Given the description of an element on the screen output the (x, y) to click on. 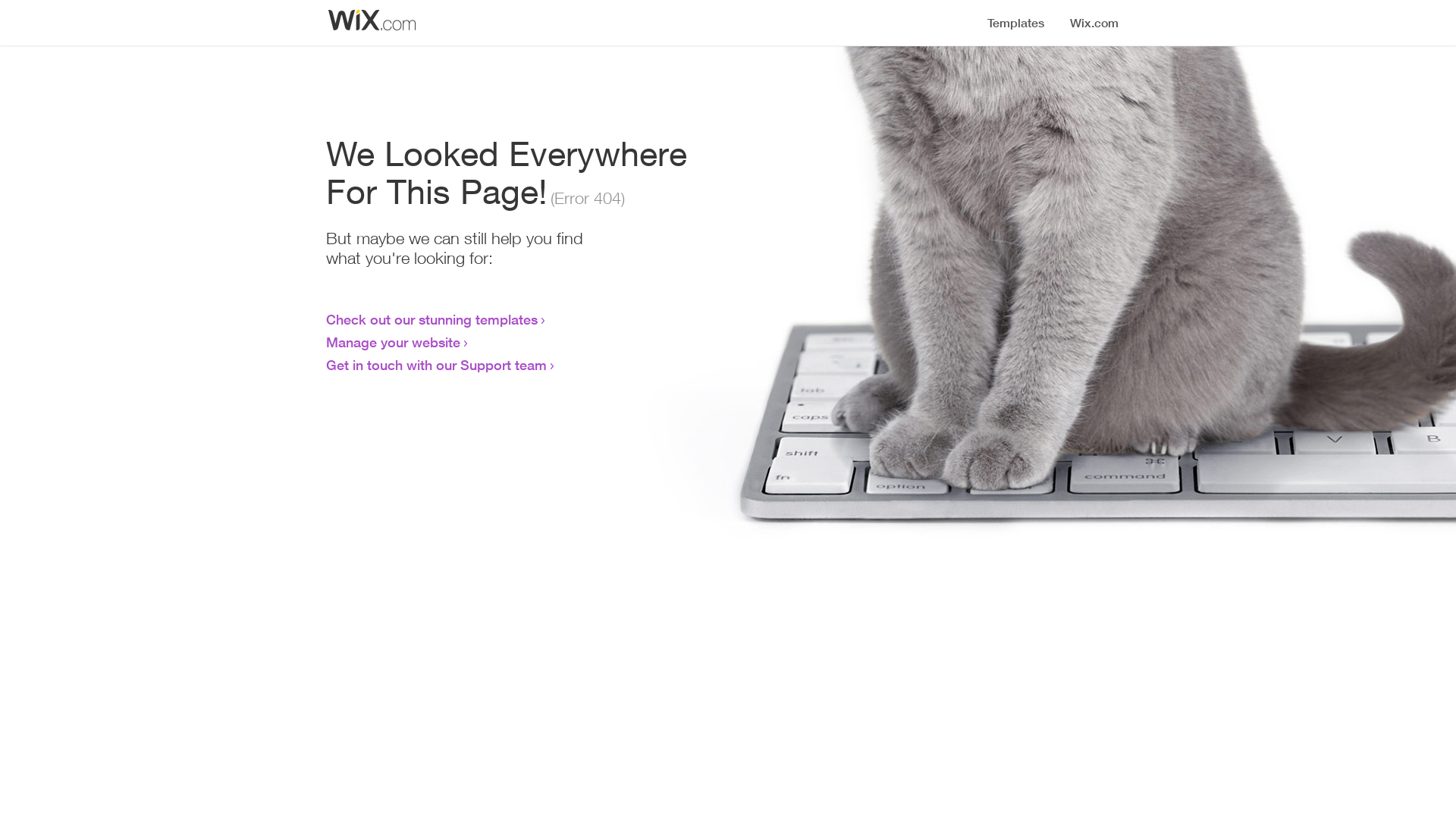
Get in touch with our Support team Element type: text (436, 364)
Manage your website Element type: text (393, 341)
Check out our stunning templates Element type: text (431, 318)
